Given the description of an element on the screen output the (x, y) to click on. 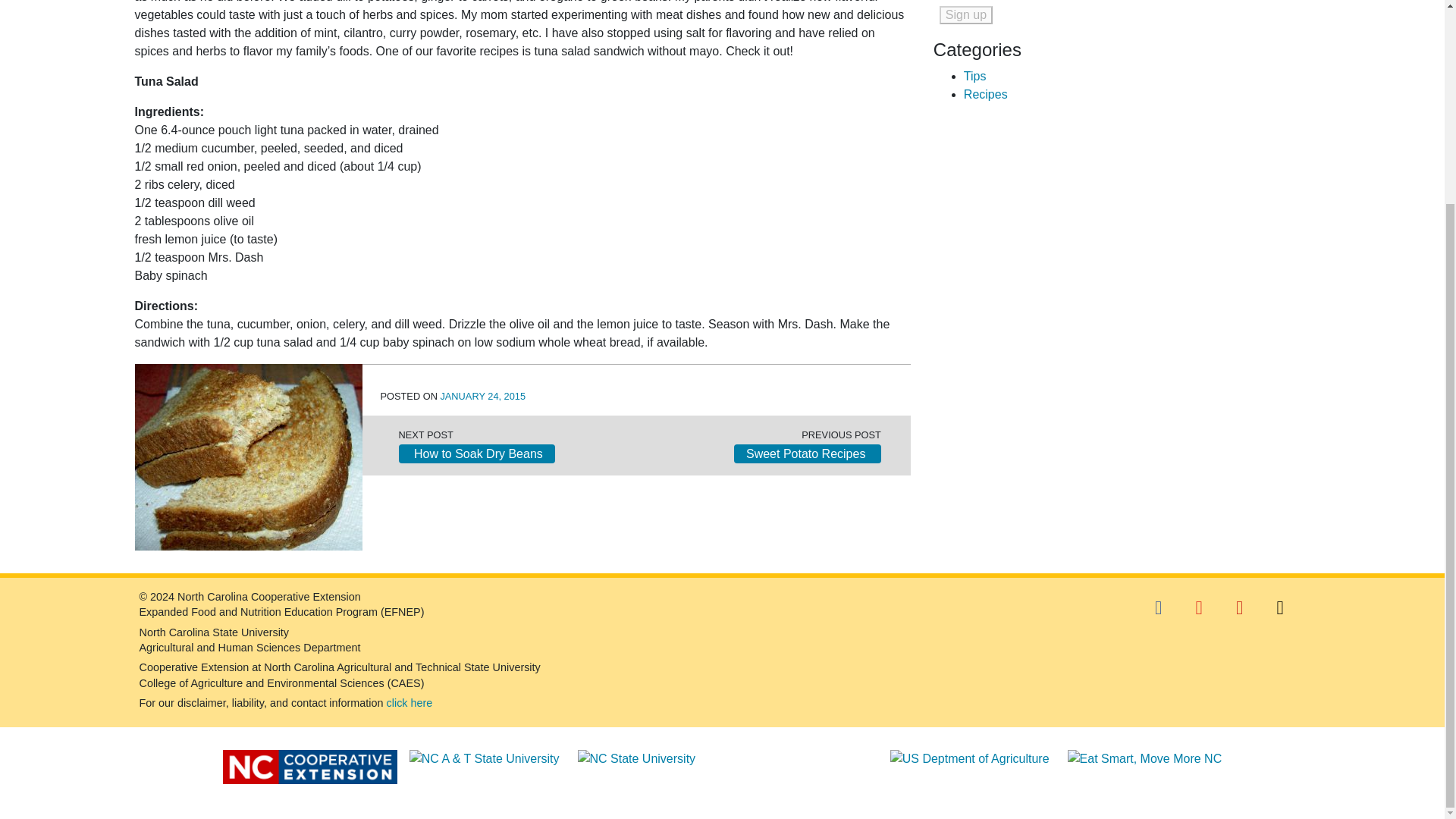
JANUARY 24, 2015 (482, 396)
 How to Soak Dry Beans (476, 453)
Sign up (965, 14)
